Given the description of an element on the screen output the (x, y) to click on. 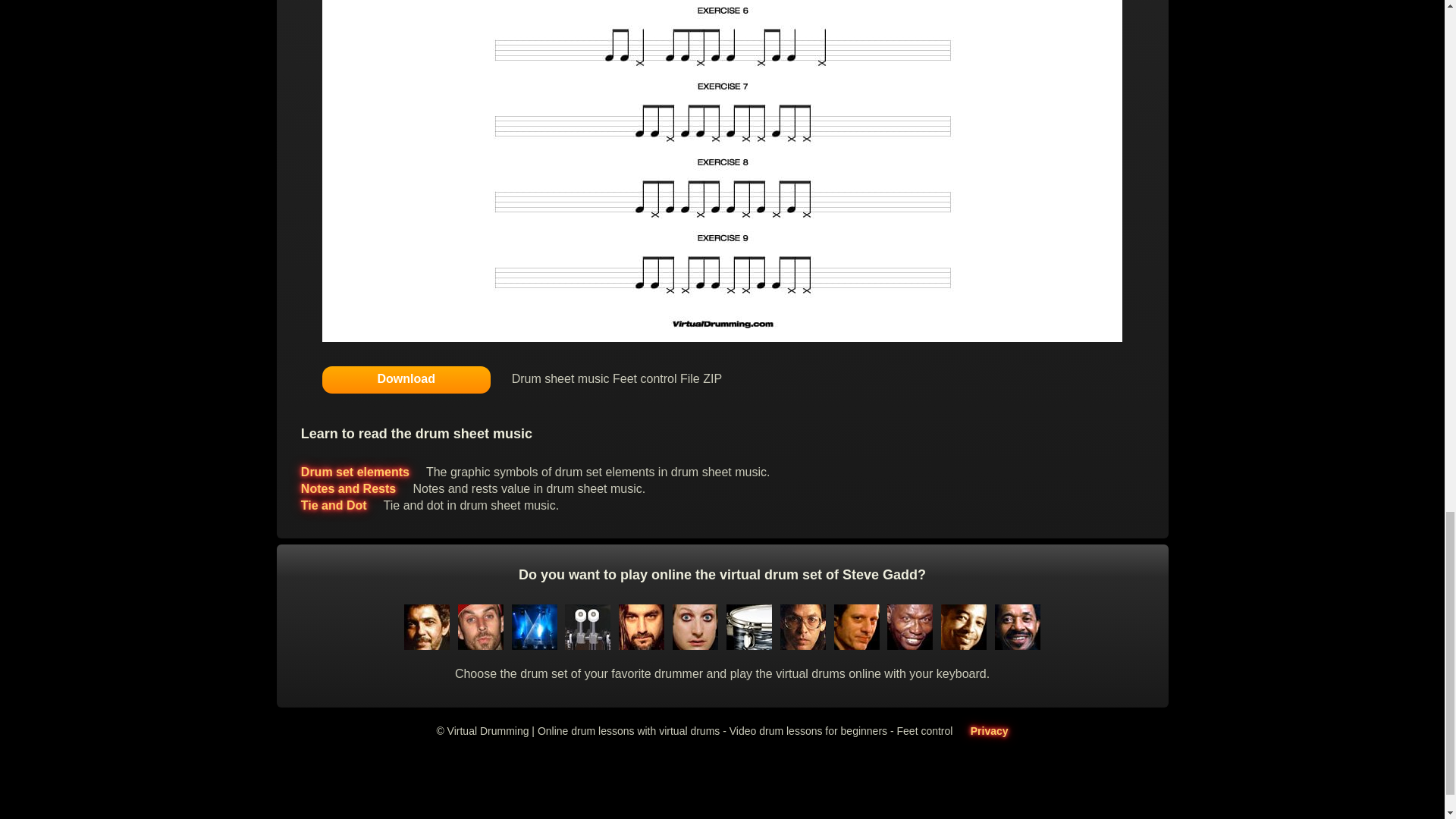
Drum notation - Tie and Dot (333, 504)
Drum notation - Notes and Rests (348, 488)
Virtual drums with double bass drum pedal (587, 645)
Virtual Mike Portnoy drums (640, 645)
Tie and Dot (333, 504)
Virtual Steve Gadd drum beats (426, 645)
Virtual vintage drums (748, 645)
Privacy (990, 730)
Virtual Tre Cool drum kits (694, 645)
Virtual Jeff Porcaro drum beats (802, 645)
Drum set elements (355, 472)
Notes and Rests (348, 488)
Virtual Travis Barker rock drum set (480, 645)
Virtual live drums (533, 645)
Drum set elements in drum sheet music (355, 472)
